Given the description of an element on the screen output the (x, y) to click on. 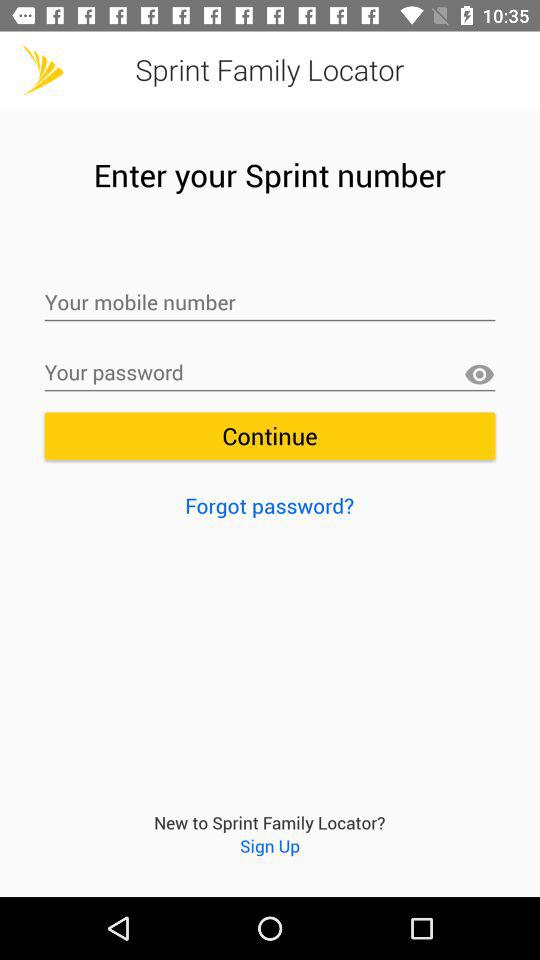
show letters (479, 374)
